Given the description of an element on the screen output the (x, y) to click on. 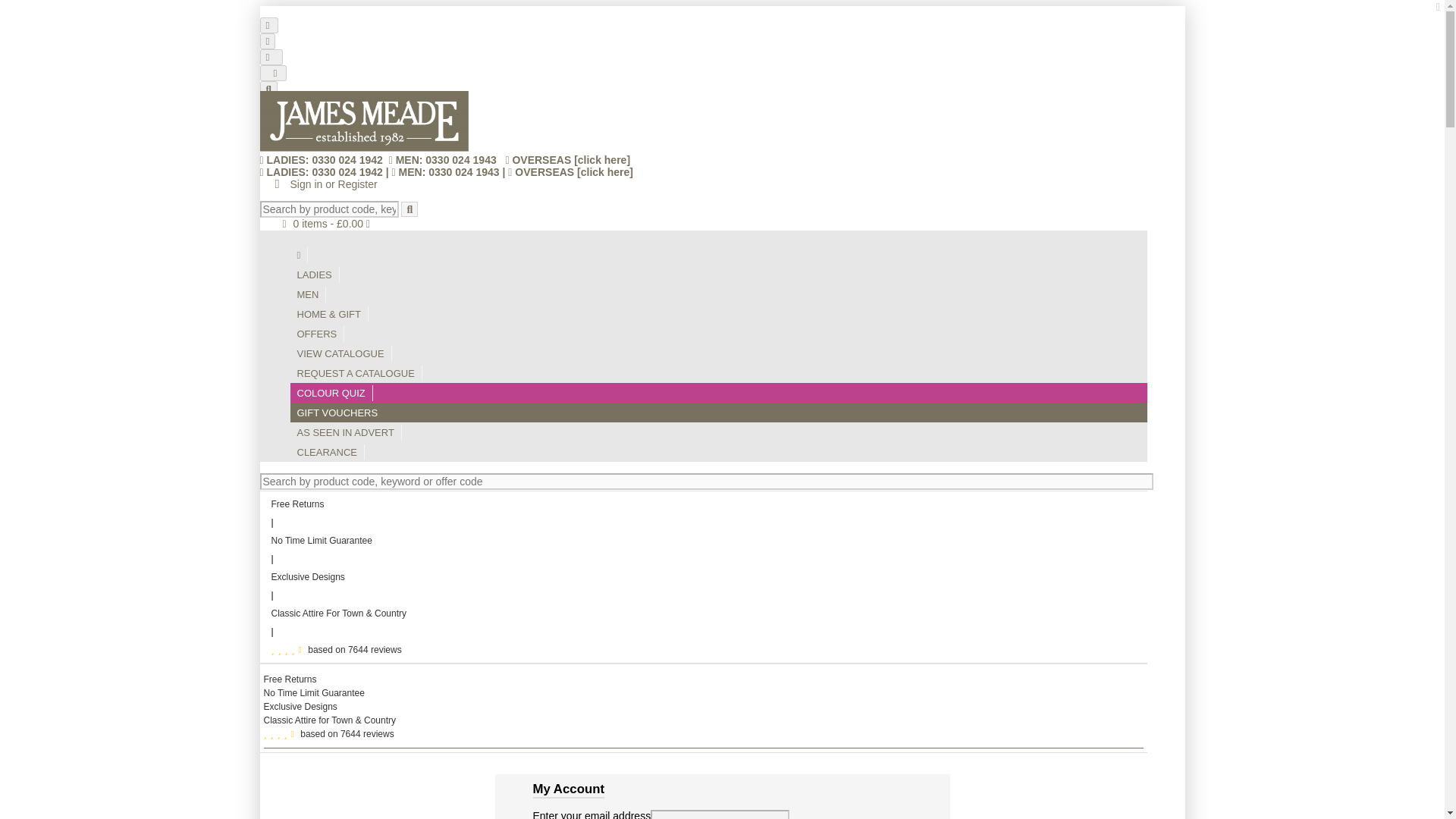
Call us today (267, 41)
Call Us on 0330 024 1943 (445, 159)
Call Us on 0330 024 1942 (320, 172)
Click here to view your basket (322, 223)
overseas telephone numbers (601, 159)
Click here to visit our homepage (298, 254)
LADIES (314, 274)
LADIES: 0330 024 1942 (320, 172)
Click here to see our Ladies range (314, 274)
Call Us on 0330 024 1942 (323, 159)
